Given the description of an element on the screen output the (x, y) to click on. 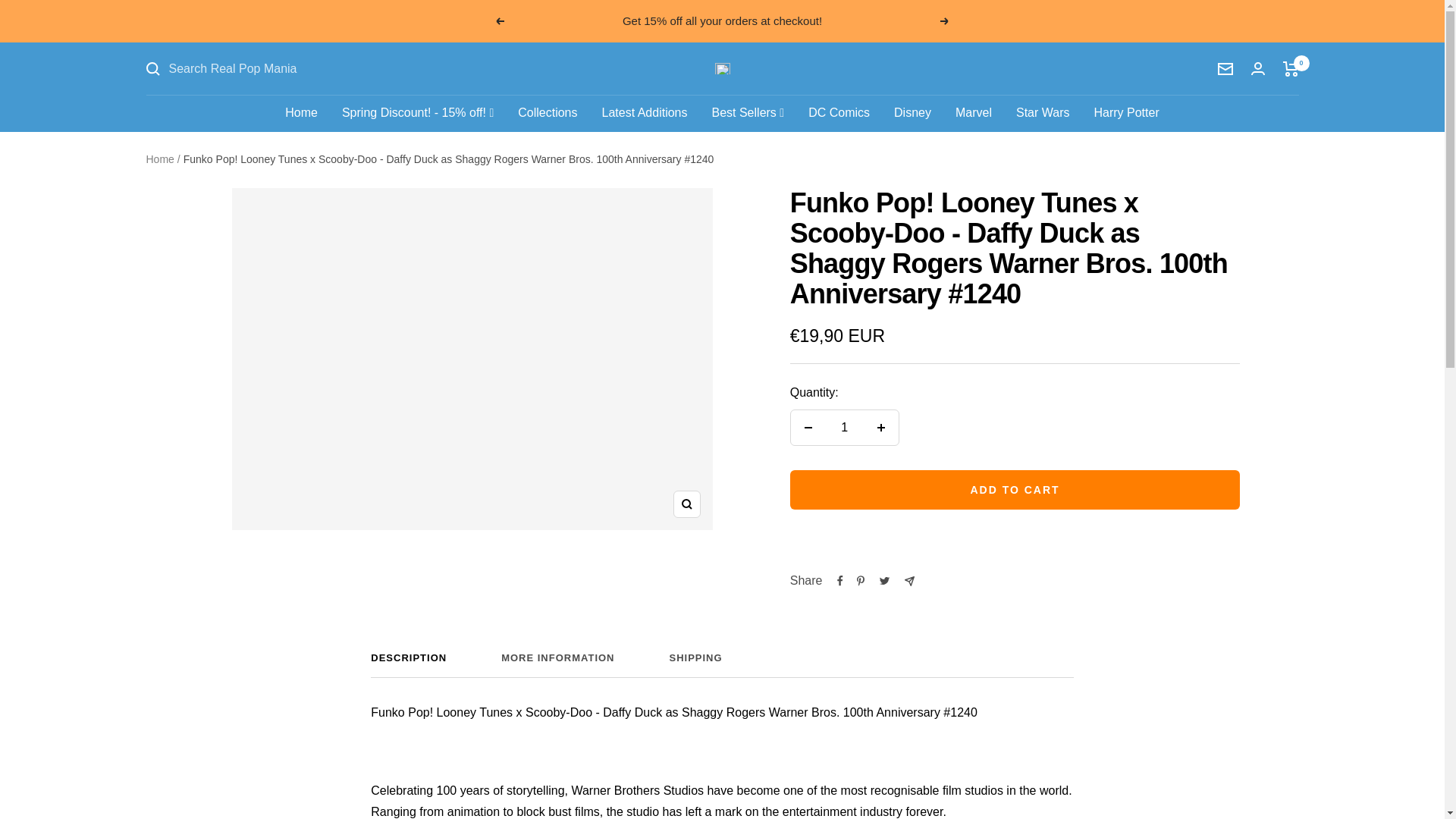
Collections (547, 113)
DC Comics (722, 664)
0 (838, 113)
1 (722, 664)
Next (1290, 68)
Star Wars (844, 427)
Disney (944, 21)
Previous (1043, 113)
Real Pop Mania (912, 113)
Home (499, 21)
Newsletter (721, 68)
Marvel (301, 113)
Harry Potter (1225, 69)
